Given the description of an element on the screen output the (x, y) to click on. 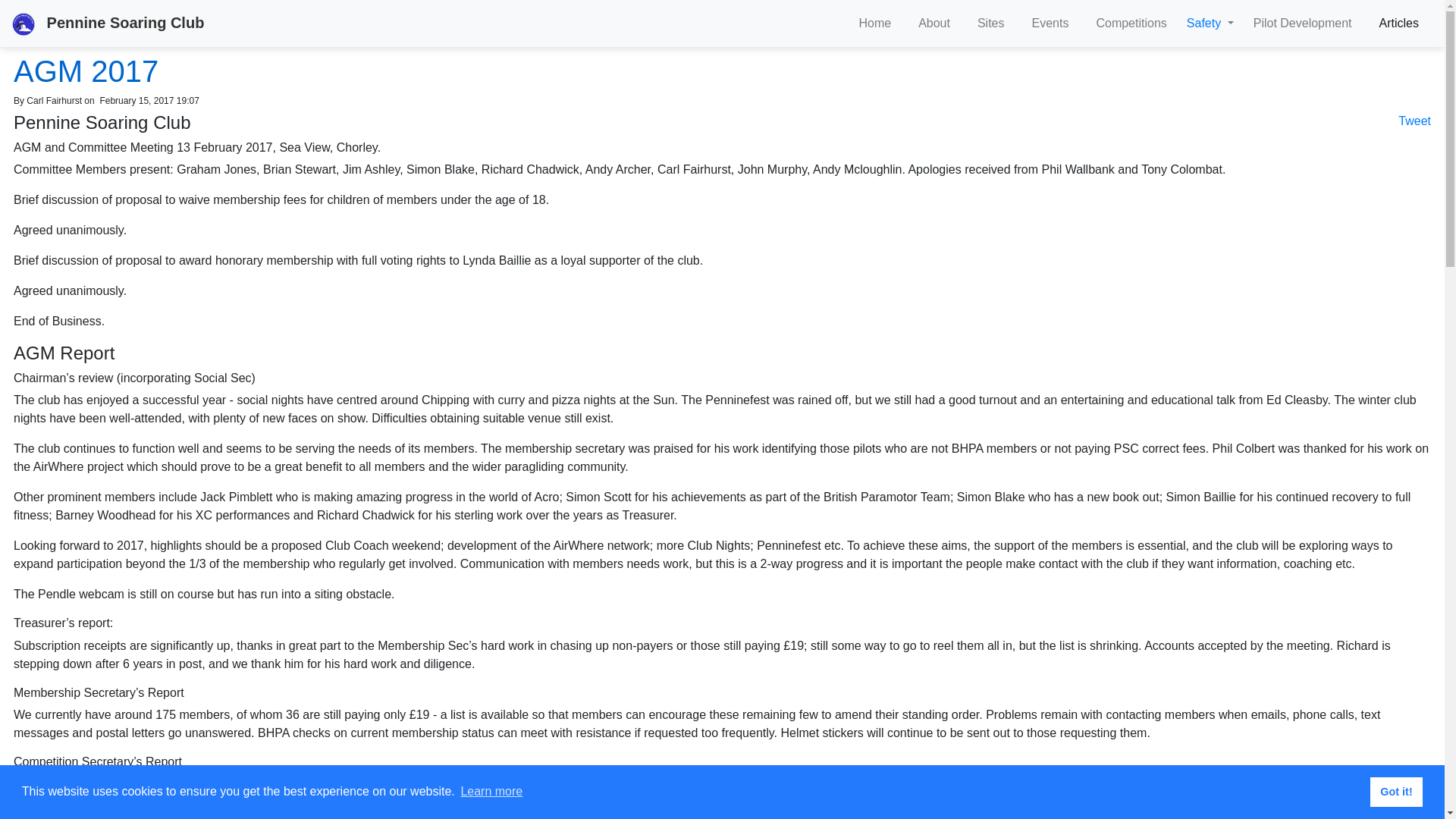
AGM 2017 (85, 70)
Pennine Soaring Club (107, 23)
Competitions (1130, 23)
Home (874, 23)
Pilot Development (1302, 23)
Tweet (1414, 120)
Safety (1205, 22)
Got it! (1396, 791)
About (933, 23)
Events (1050, 23)
Sites (990, 23)
Articles (1398, 23)
Learn more (491, 791)
